Given the description of an element on the screen output the (x, y) to click on. 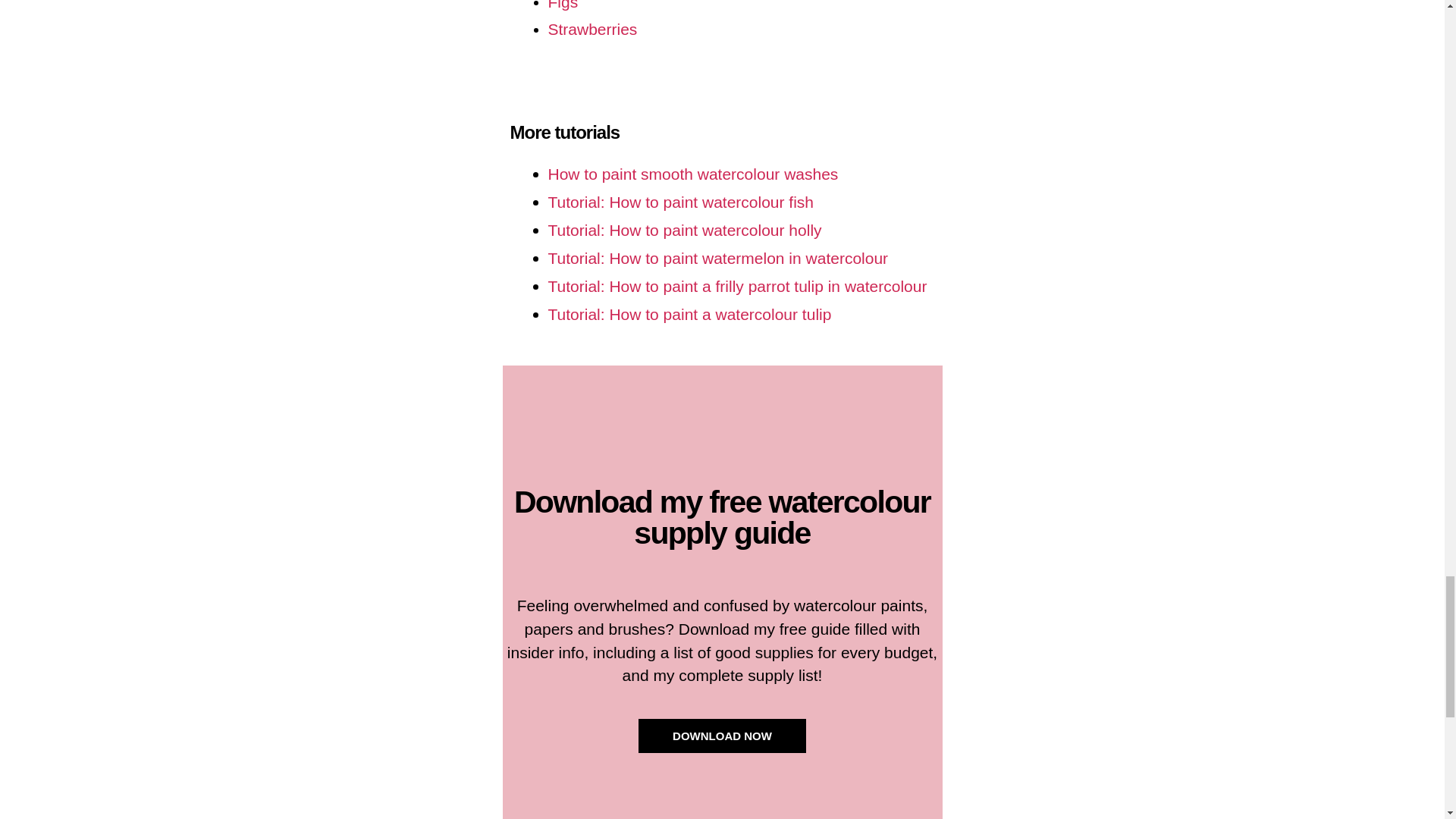
How to paint smooth watercolour washes (692, 173)
DOWNLOAD NOW (722, 735)
Tutorial: How to paint watercolour fish (680, 201)
Tutorial: How to paint watermelon in watercolour (717, 257)
Tutorial: How to paint watercolour holly (684, 230)
Figs (562, 5)
Tutorial: How to paint a watercolour tulip (689, 313)
Tutorial: How to paint a frilly parrot tulip in watercolour (736, 285)
Strawberries (592, 28)
